Given the description of an element on the screen output the (x, y) to click on. 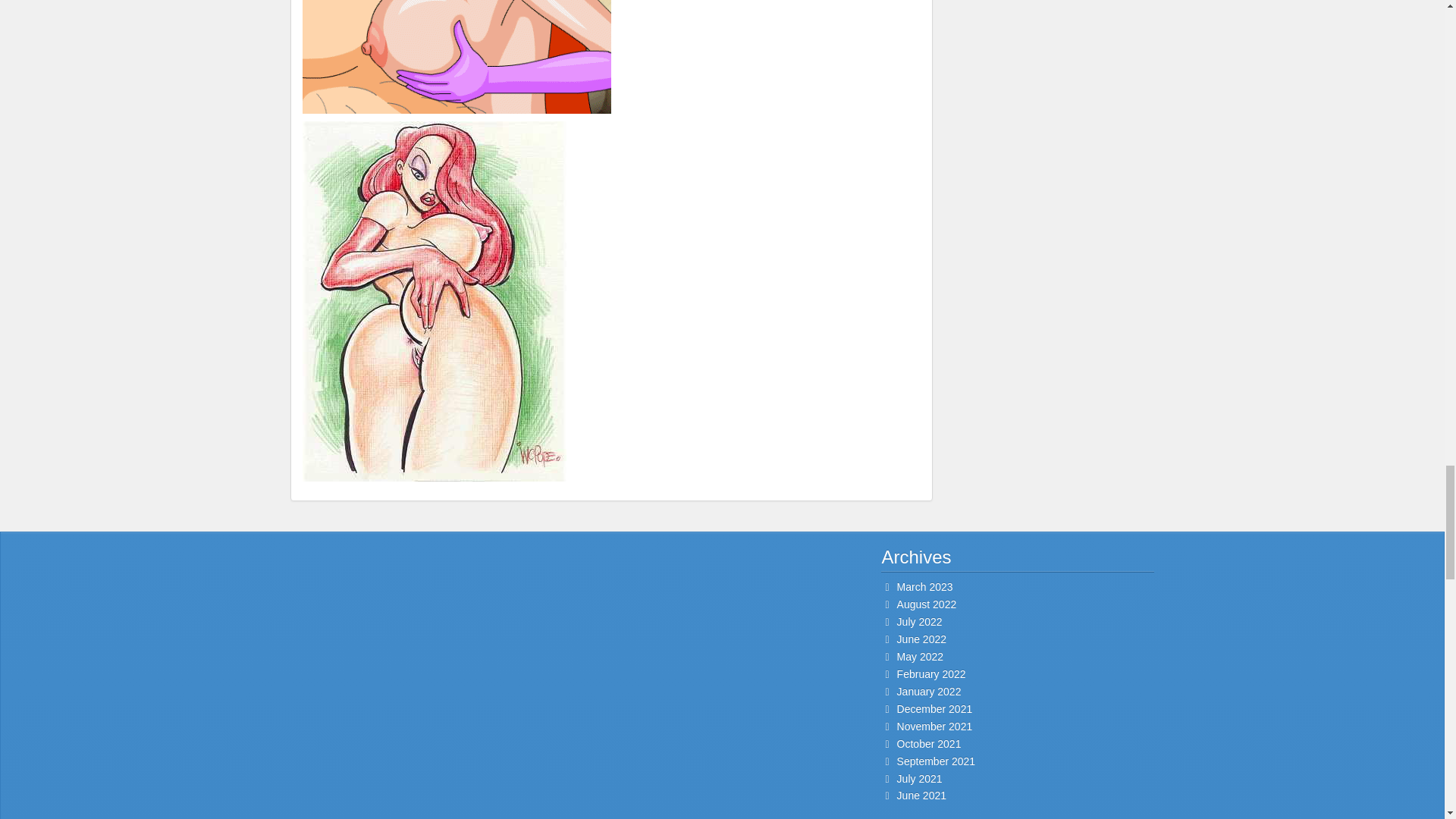
July 2021 (919, 777)
October 2021 (928, 743)
June 2021 (921, 795)
May 2022 (919, 656)
March 2023 (924, 586)
August 2022 (926, 604)
September 2021 (935, 761)
July 2022 (919, 621)
January 2022 (928, 691)
February 2022 (931, 674)
